Given the description of an element on the screen output the (x, y) to click on. 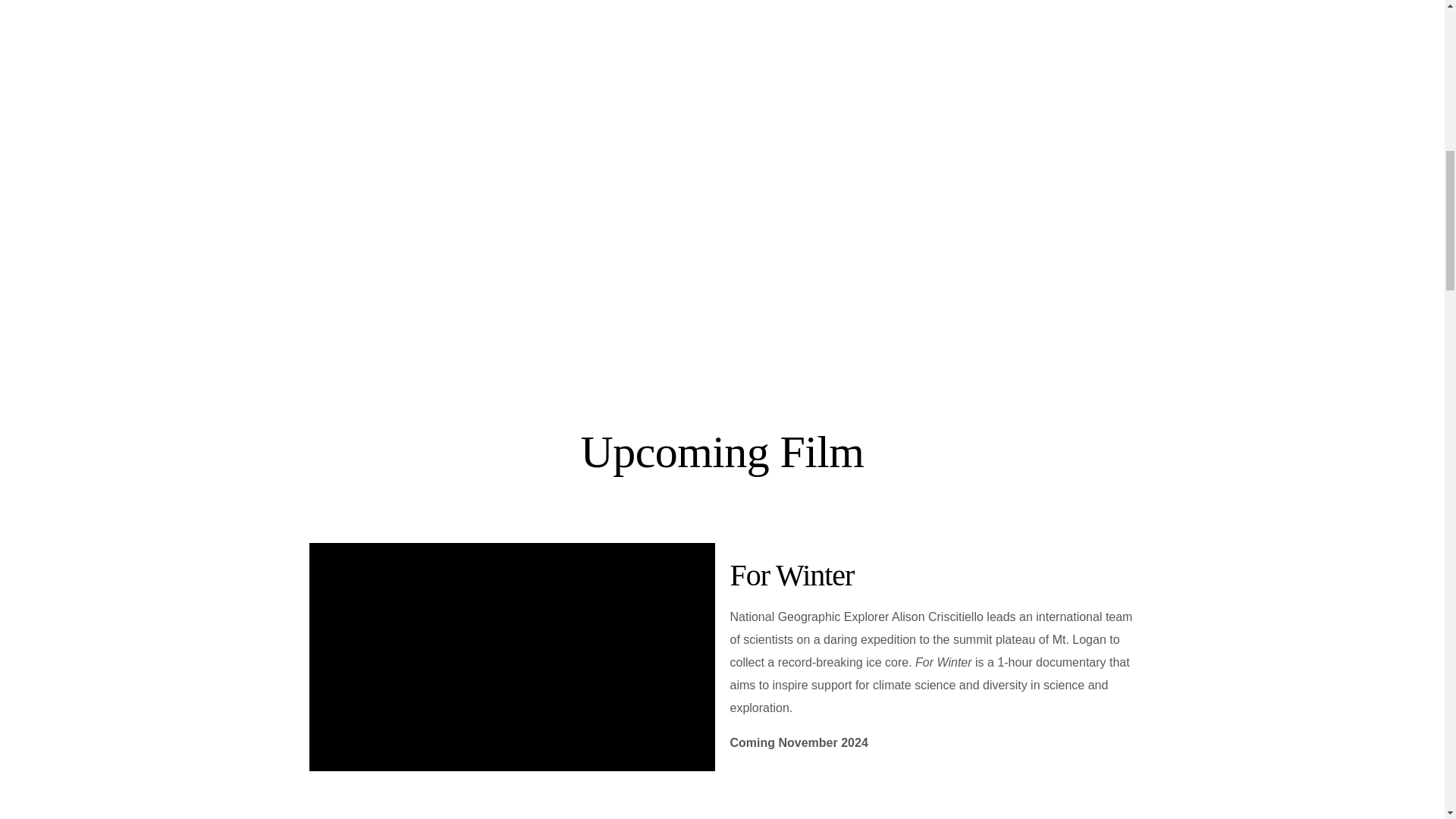
vimeo Video Player (511, 656)
